Given the description of an element on the screen output the (x, y) to click on. 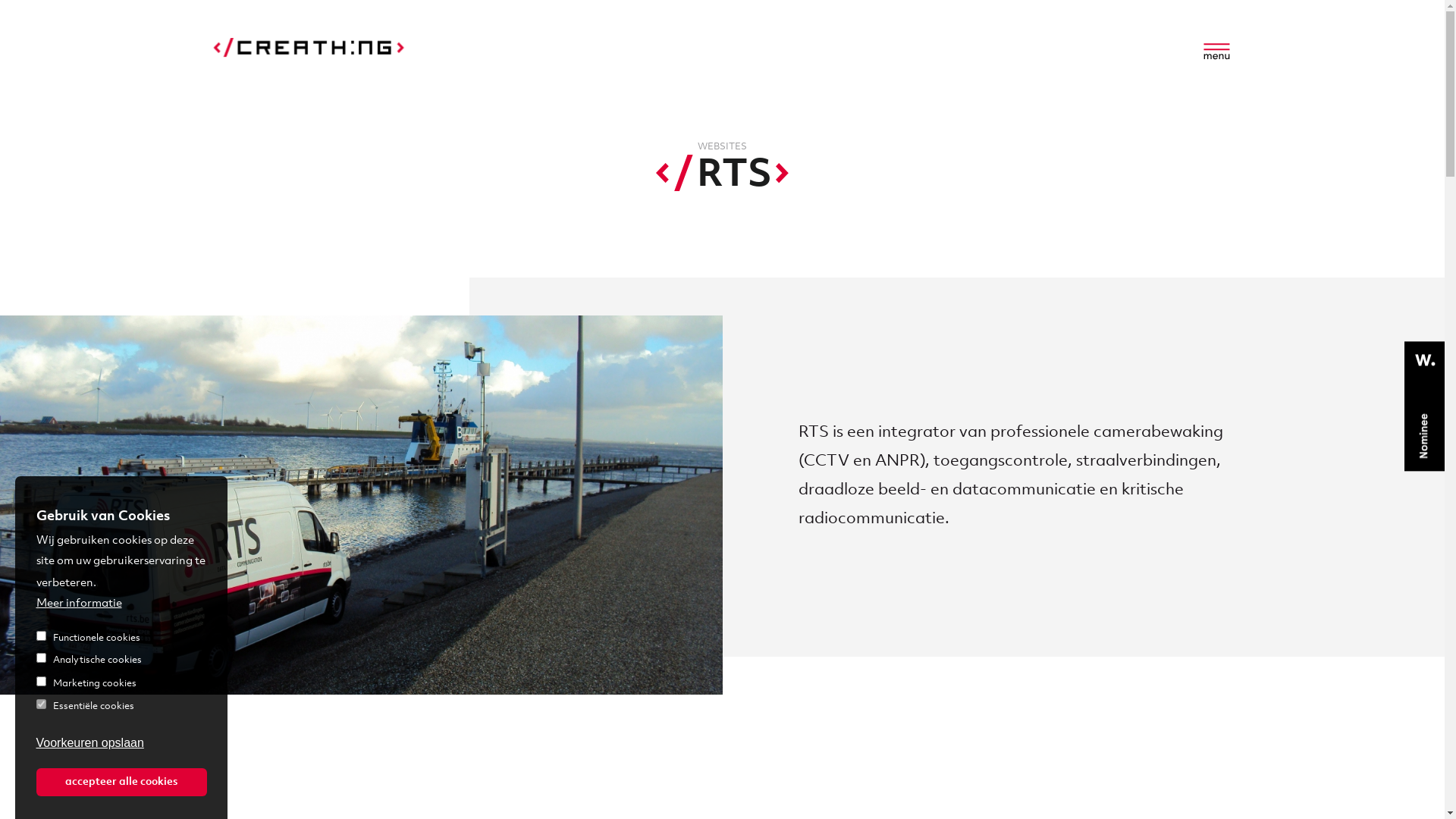
Overslaan en naar de inhoud gaan Element type: text (0, 140)
Meer informatie Element type: text (79, 602)
Voorkeuren opslaan Element type: text (90, 743)
Home Element type: hover (310, 50)
accepteer alle cookies Element type: text (121, 782)
